Given the description of an element on the screen output the (x, y) to click on. 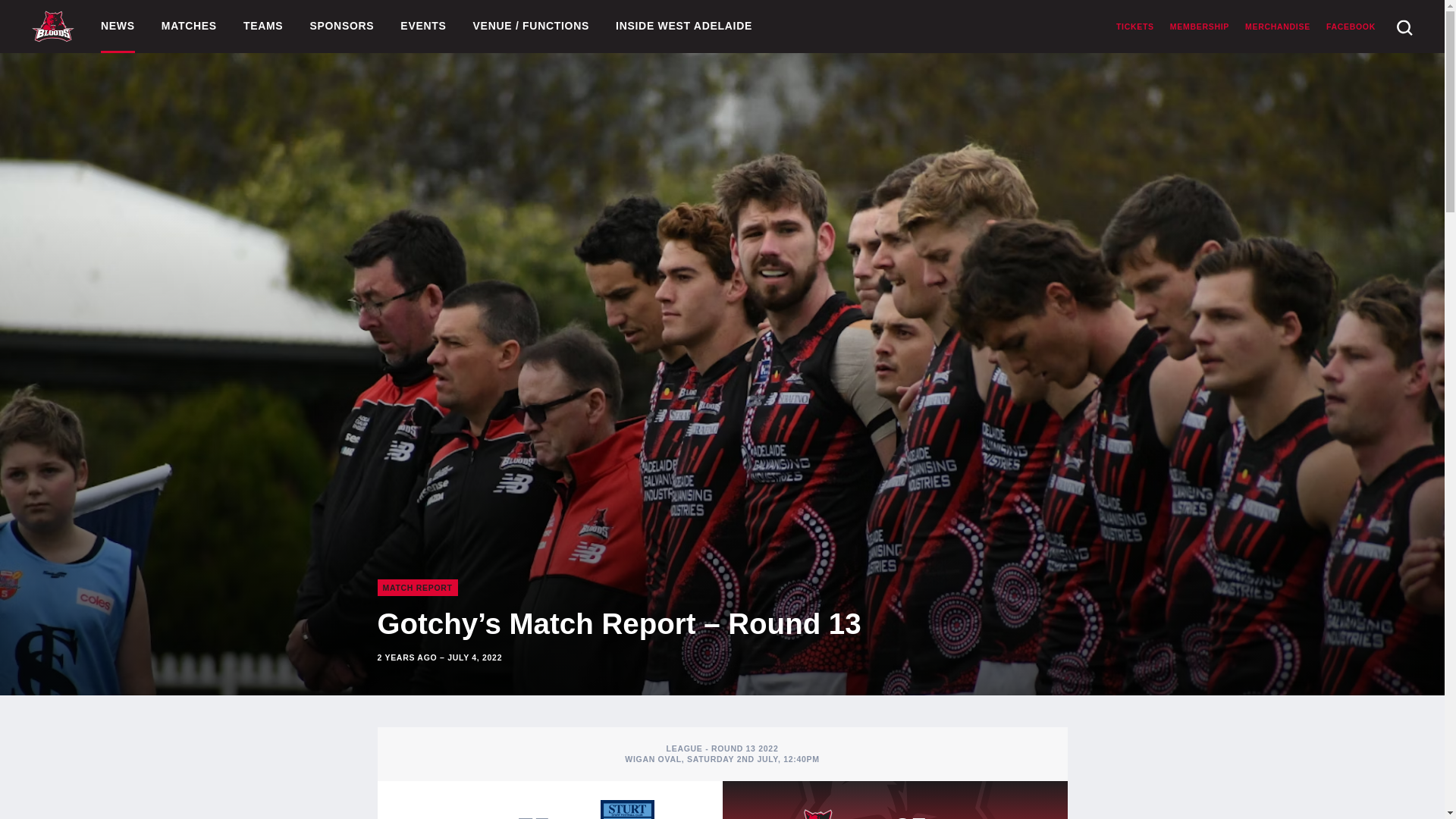
West Adelaide Football Club (53, 25)
MEMBERSHIP (1199, 26)
FACEBOOK (1350, 26)
INSIDE WEST ADELAIDE (683, 26)
MERCHANDISE (1277, 26)
SPONSORS (341, 26)
MATCHES (188, 26)
